Given the description of an element on the screen output the (x, y) to click on. 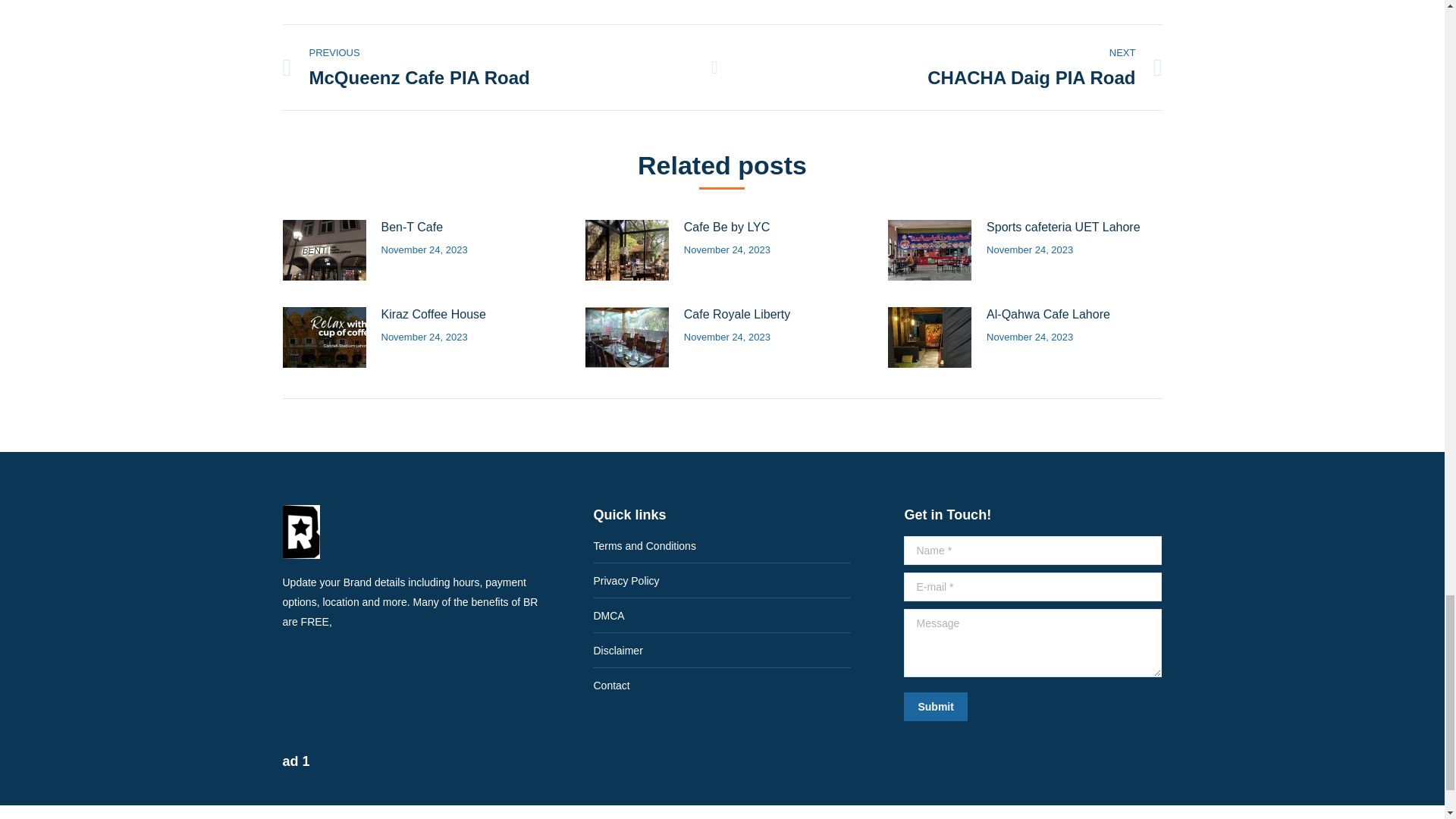
submit (1008, 707)
